Given the description of an element on the screen output the (x, y) to click on. 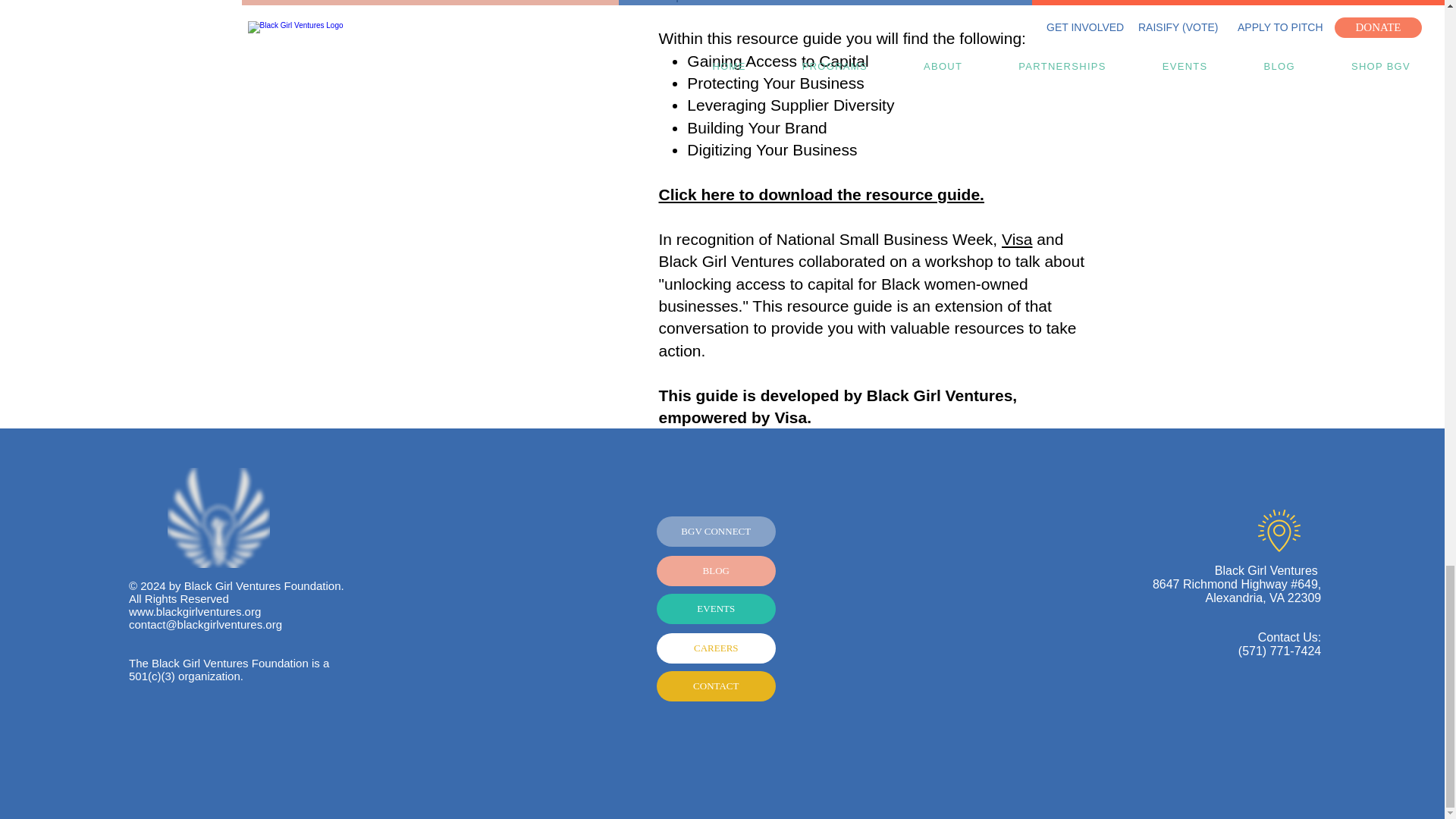
www.blackgirlventures.org (194, 611)
BGVF Icon Black (218, 517)
BLOG (716, 571)
EVENTS (716, 608)
Visa (1016, 239)
BGV CONNECT (716, 531)
Click here to download the resource guide. (821, 194)
